Given the description of an element on the screen output the (x, y) to click on. 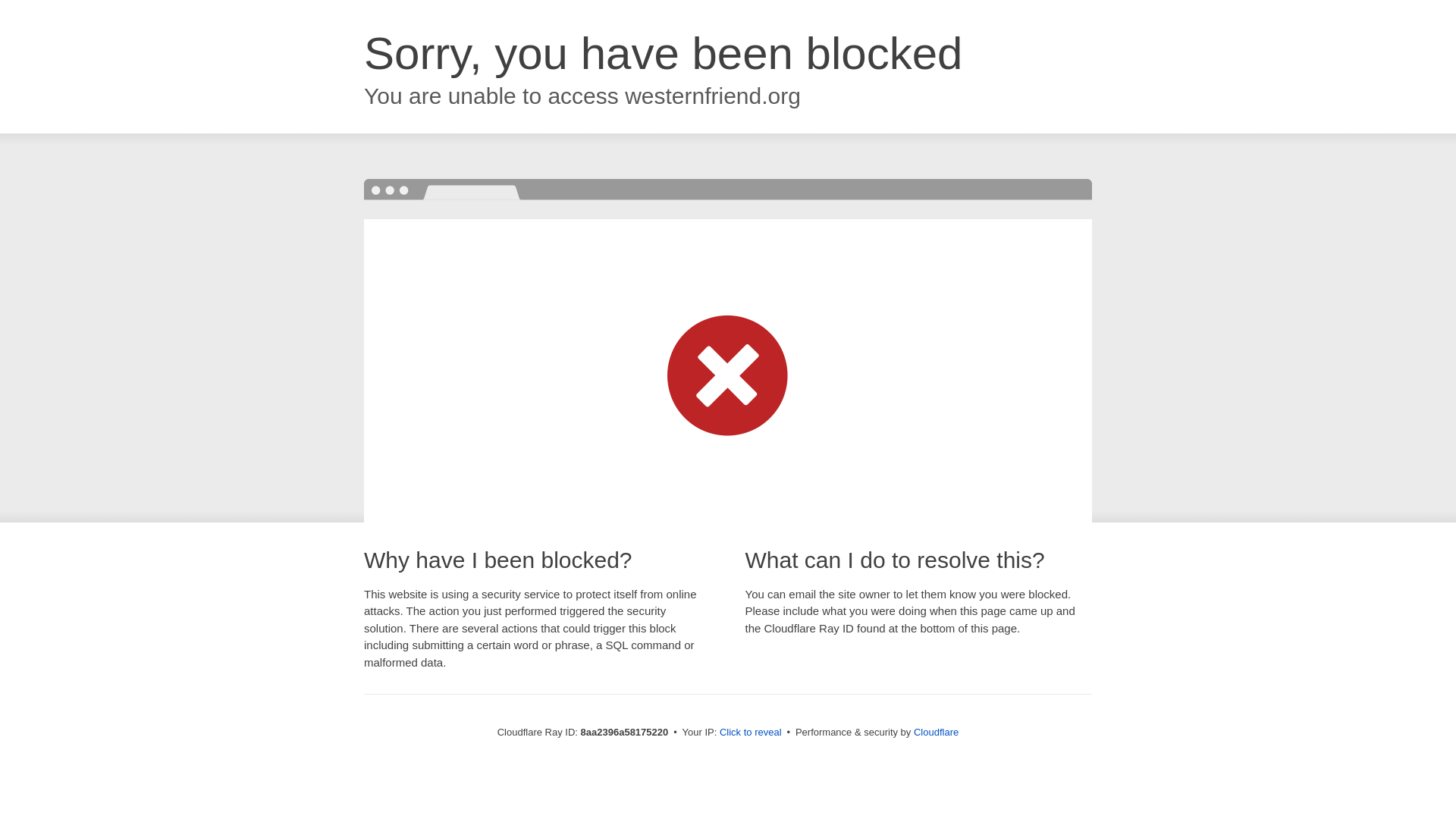
Cloudflare (936, 731)
Click to reveal (750, 732)
